Given the description of an element on the screen output the (x, y) to click on. 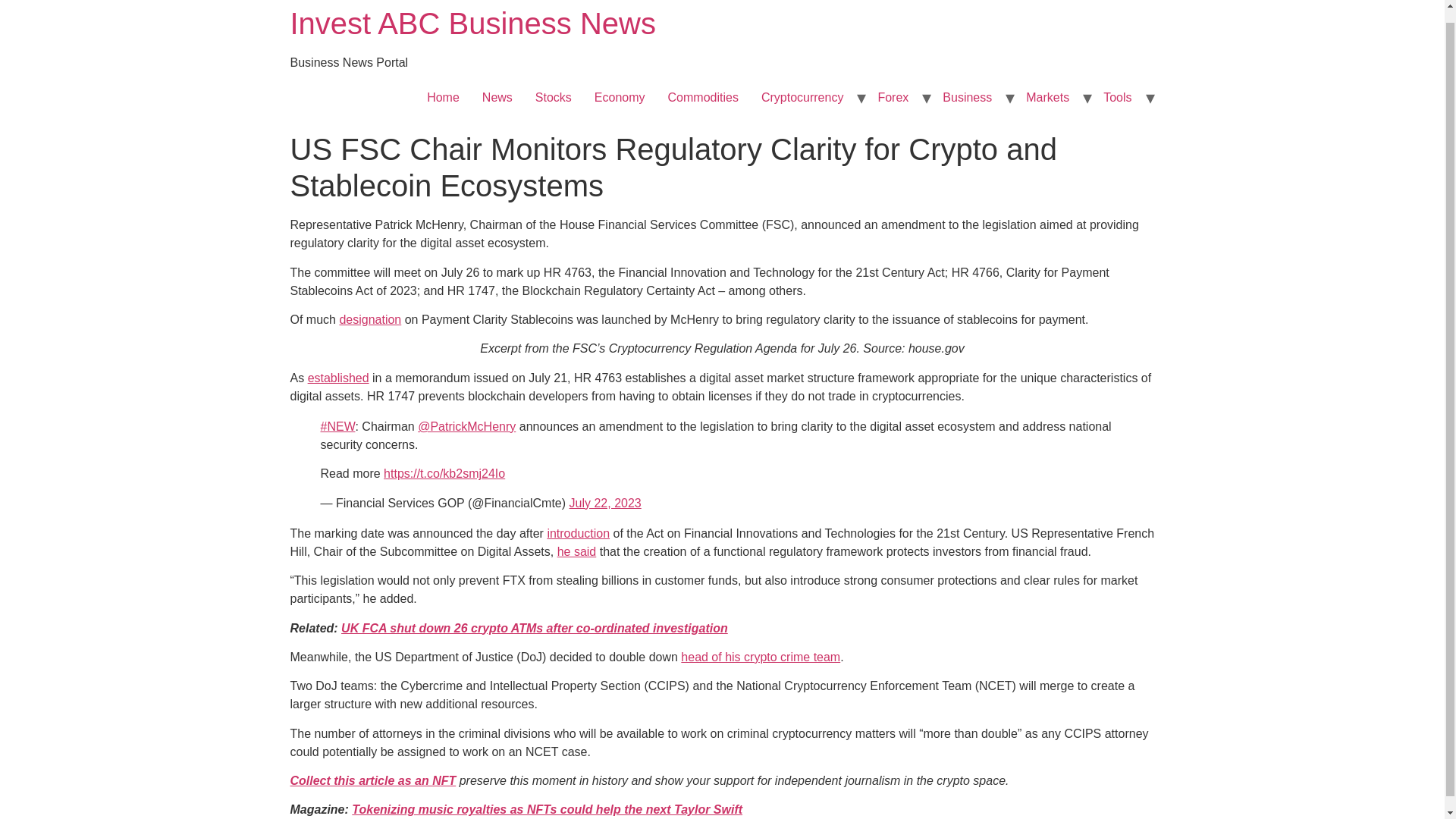
Cryptocurrency (801, 97)
Economy (619, 97)
Forex (893, 97)
Home (472, 23)
Markets (1047, 97)
Invest ABC Business News (472, 23)
News (497, 97)
Commodities (702, 97)
Stocks (553, 97)
Home (442, 97)
